Given the description of an element on the screen output the (x, y) to click on. 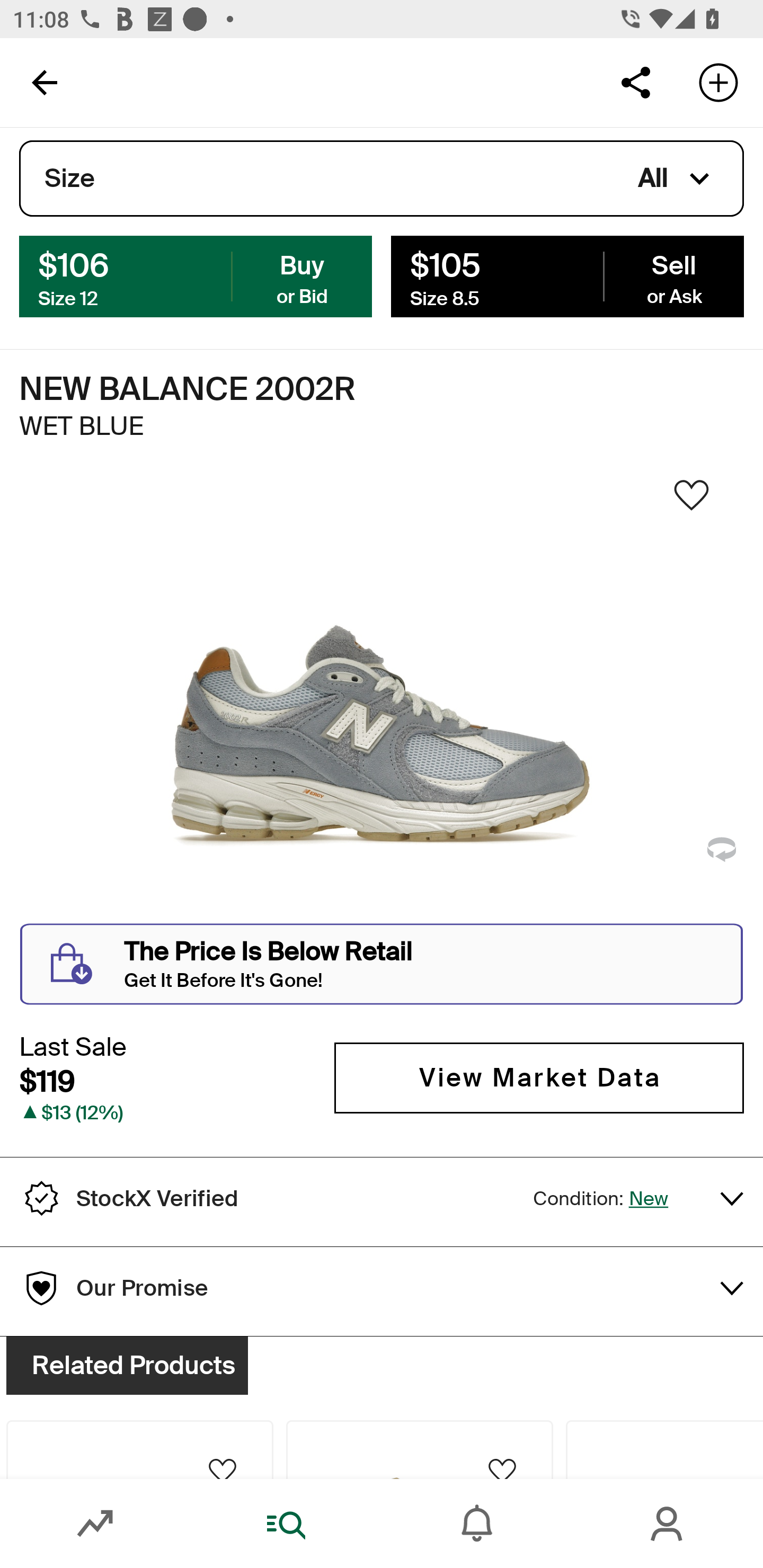
Search by brand, color, etc. (351, 82)
Share (635, 81)
Add (718, 81)
Shoes (244, 165)
Apparel (390, 165)
Electronics (569, 165)
Trading Cards (716, 165)
Size All (381, 178)
$106 Buy Size 12 or Bid (195, 275)
$105 Sell Size 8.5 or Ask (566, 275)
Sneaker Image (381, 699)
View Market Data (538, 1077)
Product Image (190, 1377)
Product Image (572, 1377)
Product Image (139, 1449)
Product Image (419, 1449)
Product Image (664, 1449)
Market (95, 1523)
Inbox (476, 1523)
Account (667, 1523)
